Given the description of an element on the screen output the (x, y) to click on. 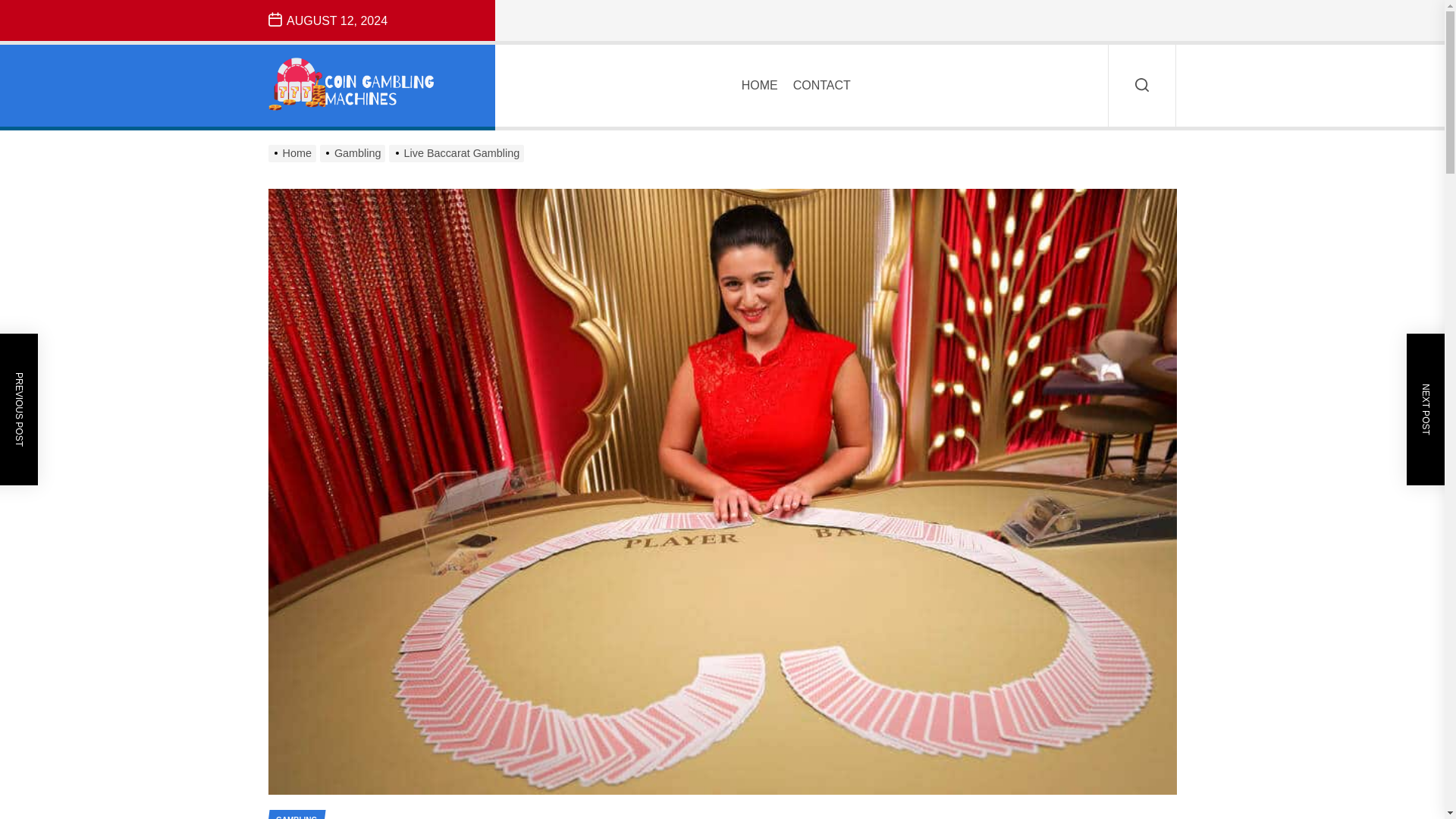
HOME (759, 85)
GAMBLING (294, 814)
Home (293, 152)
Gambling (355, 152)
CONTACT (821, 85)
Live Baccarat Gambling (457, 152)
